Given the description of an element on the screen output the (x, y) to click on. 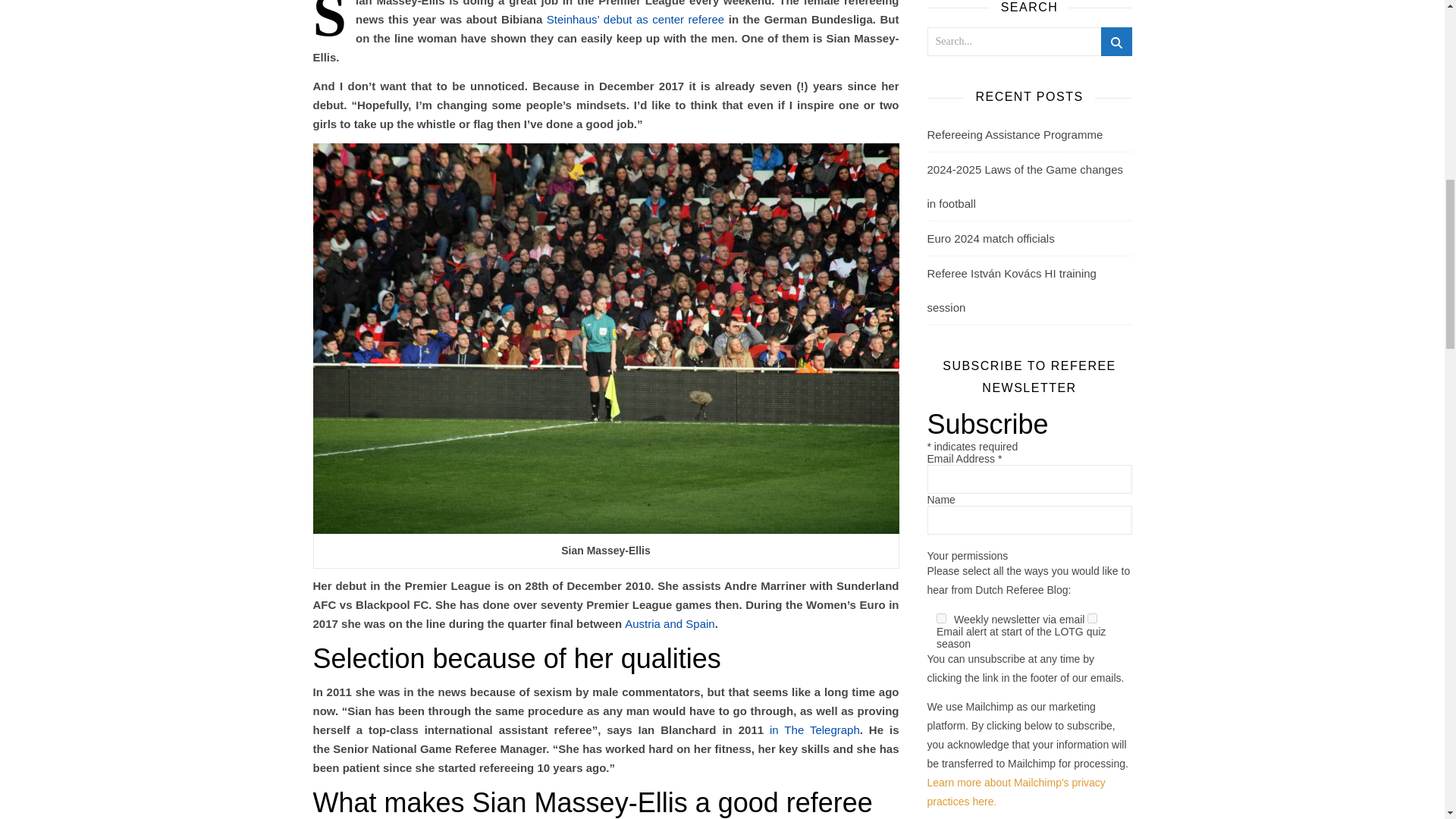
Y (941, 618)
Y (1092, 618)
